Given the description of an element on the screen output the (x, y) to click on. 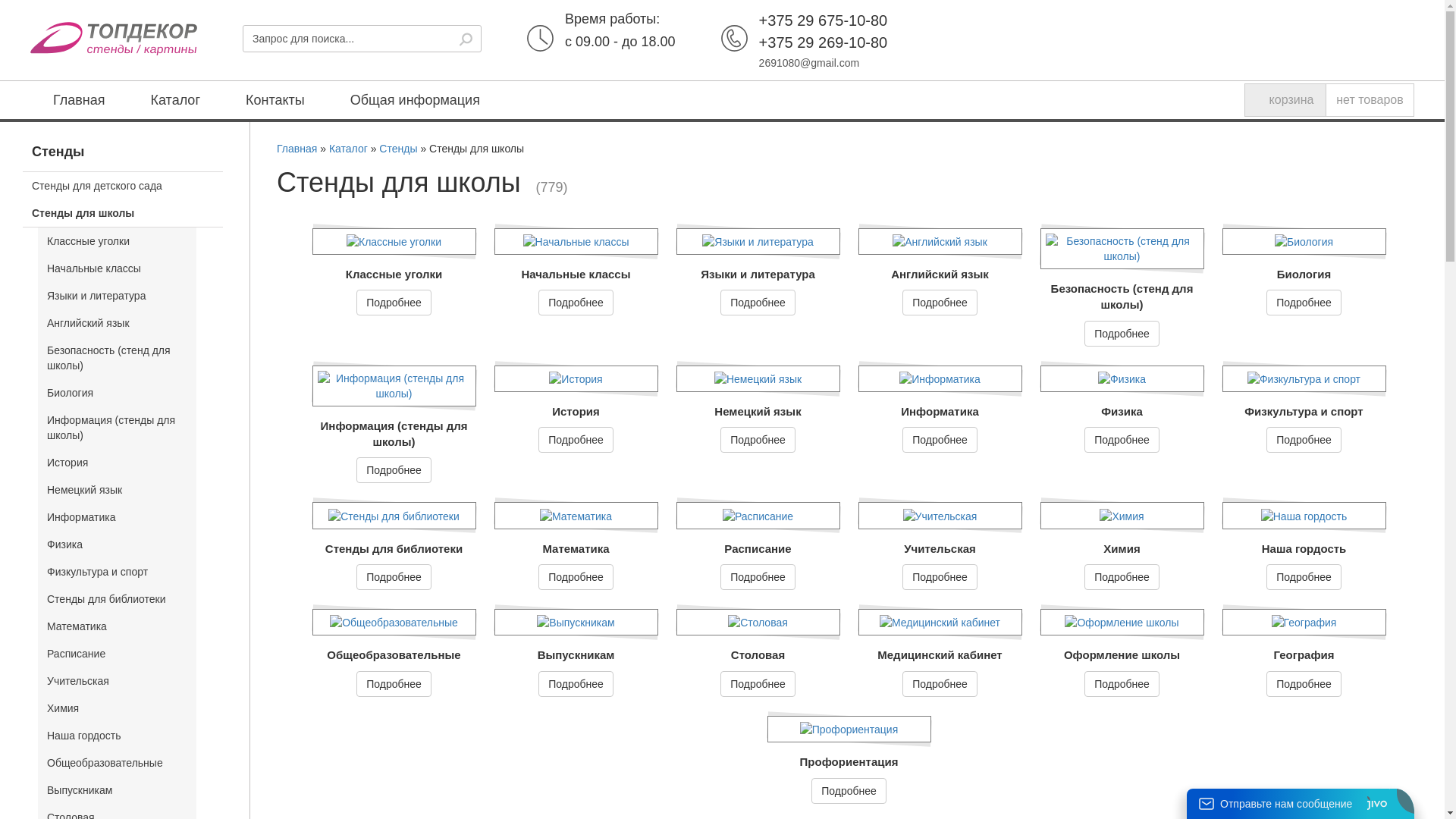
+375 29 675-10-80 Element type: text (823, 20)
2691080@gmail.com Element type: text (809, 62)
+375 29 269-10-80 Element type: text (823, 42)
